Given the description of an element on the screen output the (x, y) to click on. 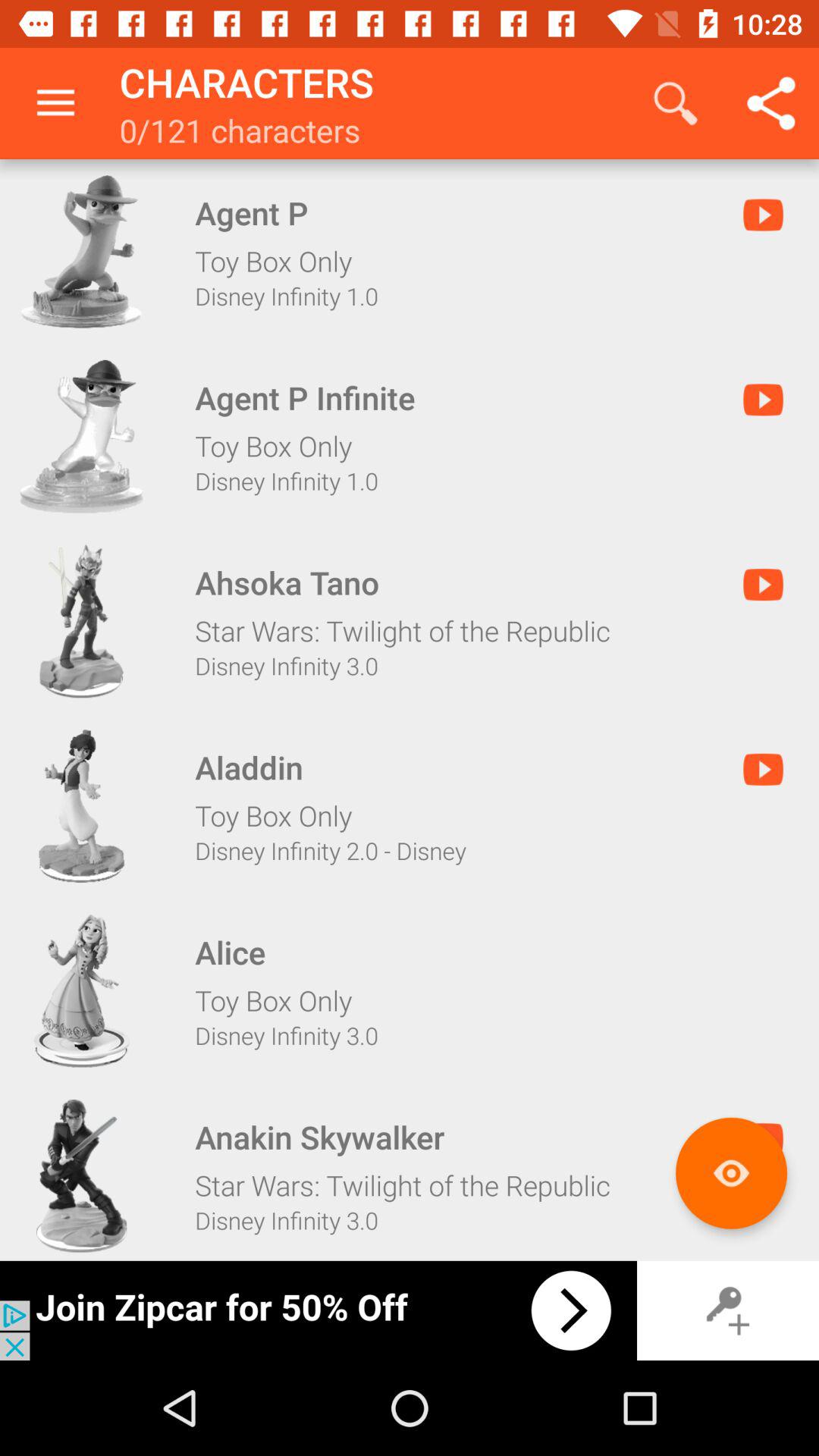
go to right of second option (763, 399)
choose the image left side to agent p infinite (81, 436)
click on the image which is on the left side of ahsoka tano (81, 620)
